Given the description of an element on the screen output the (x, y) to click on. 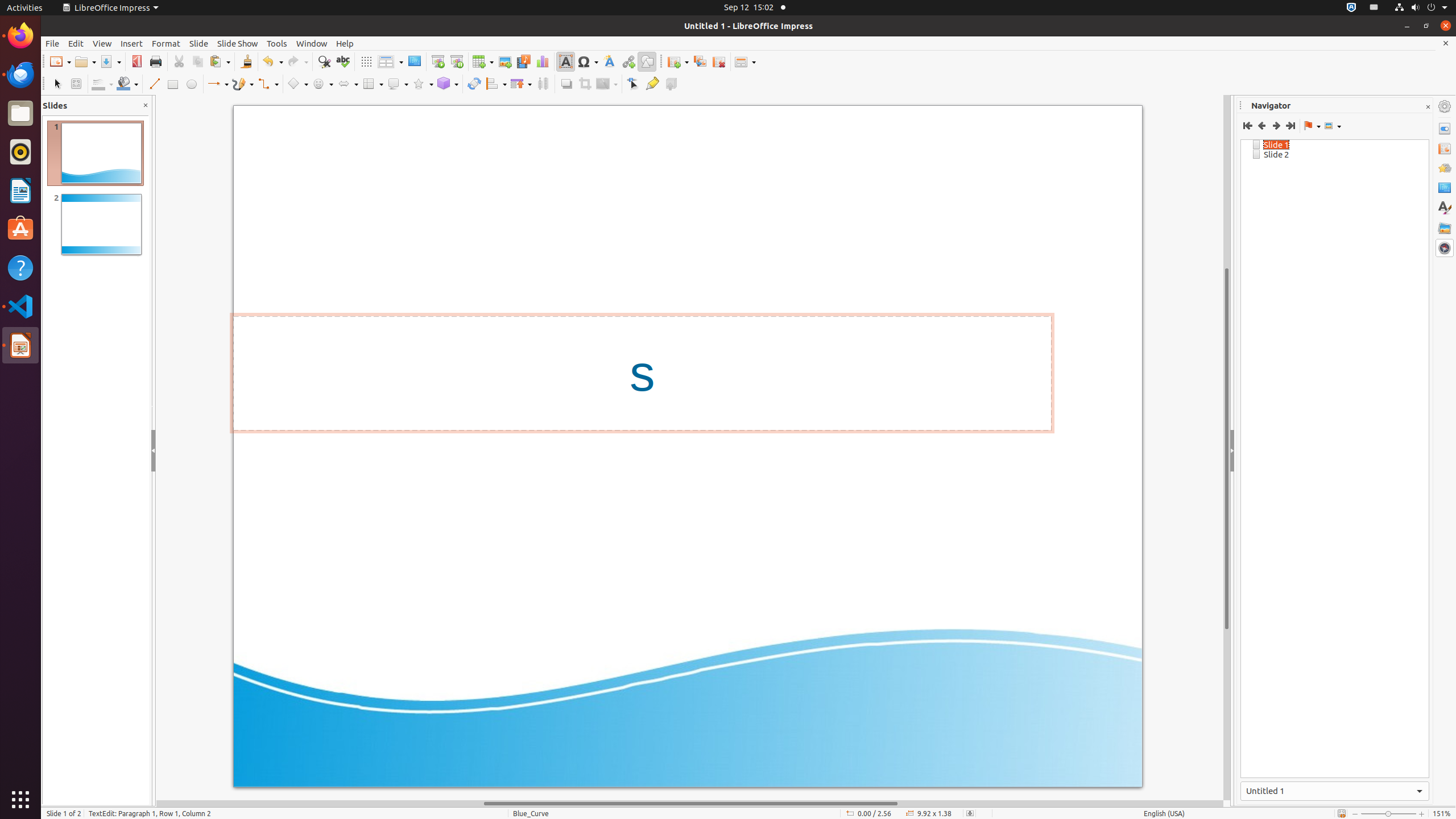
Text Box Element type: push-button (565, 61)
Rectangle Element type: push-button (172, 83)
PDF Element type: push-button (136, 61)
Basic Shapes Element type: push-button (296, 83)
